Given the description of an element on the screen output the (x, y) to click on. 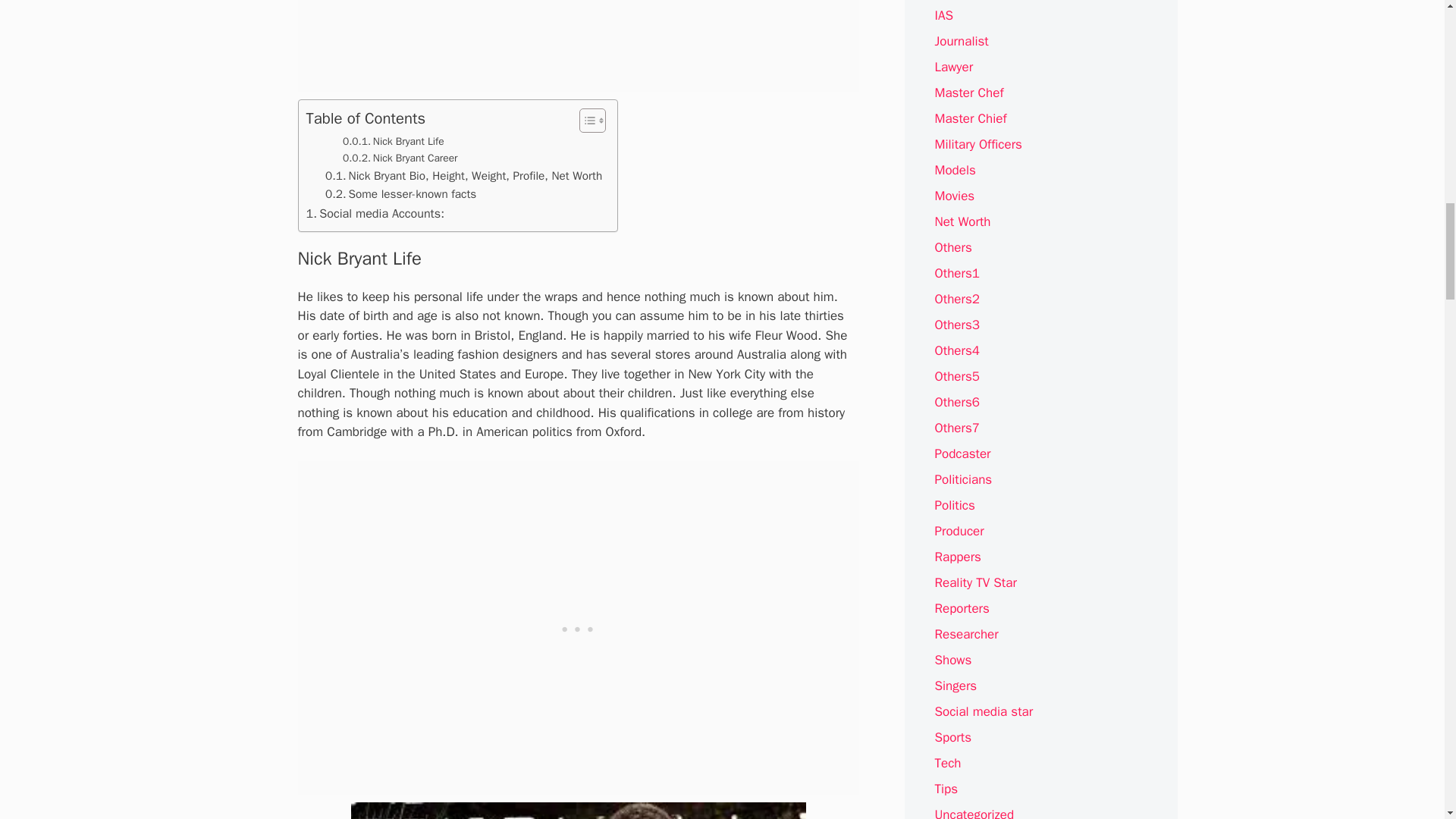
Nick Bryant Life (393, 141)
Nick Bryant Career (400, 158)
Nick Bryant Bio, Height, Weight, Profile, Net Worth (463, 176)
Some lesser-known facts (400, 194)
Some lesser-known facts (400, 194)
Nick Bryant Life (393, 141)
Social media Accounts:  (376, 213)
Nick Bryant Career (400, 158)
Nick Bryant Bio, Height, Weight, Profile, Net Worth (463, 176)
